Given the description of an element on the screen output the (x, y) to click on. 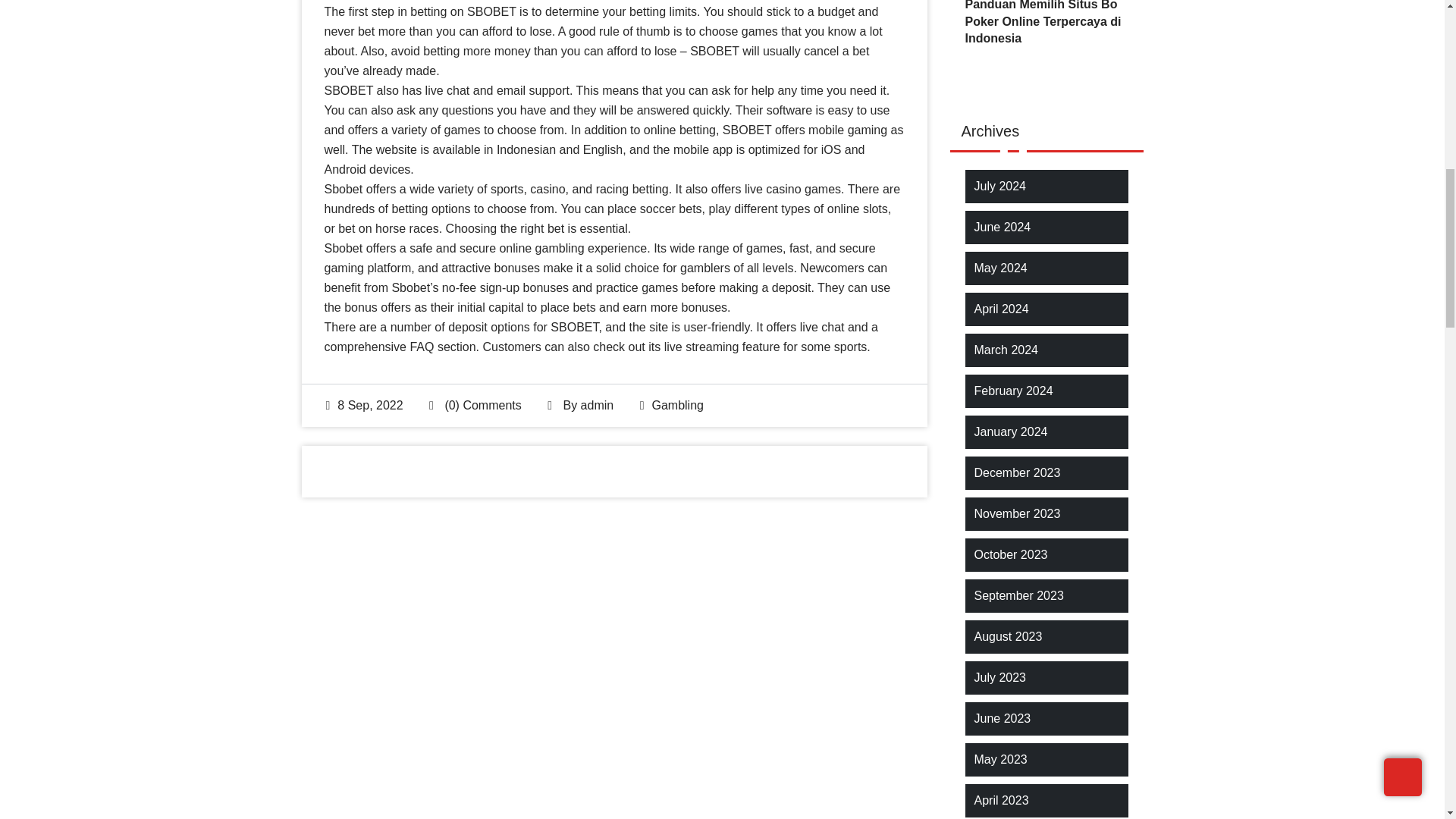
May 2024 (1000, 268)
June 2024 (1002, 227)
September 2023 (1018, 596)
March 2024 (1006, 350)
August 2023 (1008, 637)
8 Sep, 2022 (364, 404)
July 2024 (1000, 186)
November 2023 (1016, 514)
December 2023 (1016, 473)
October 2023 (1010, 555)
February 2024 (1013, 391)
April 2024 (1000, 309)
April 2023 (1000, 800)
Gambling (676, 404)
